Given the description of an element on the screen output the (x, y) to click on. 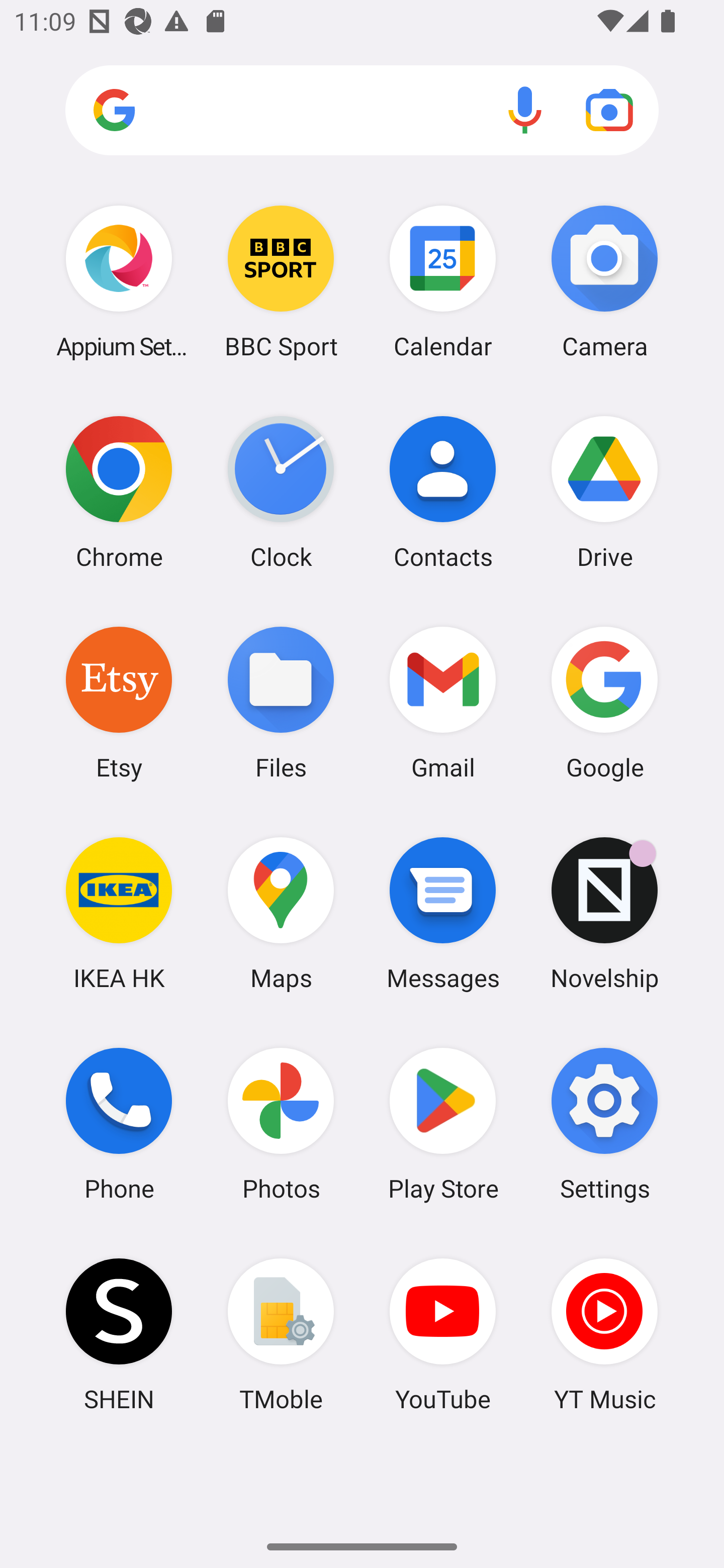
Search apps, web and more (361, 110)
Voice search (524, 109)
Google Lens (608, 109)
Appium Settings (118, 281)
BBC Sport (280, 281)
Calendar (443, 281)
Camera (604, 281)
Chrome (118, 492)
Clock (280, 492)
Contacts (443, 492)
Drive (604, 492)
Etsy (118, 702)
Files (280, 702)
Gmail (443, 702)
Google (604, 702)
IKEA HK (118, 913)
Maps (280, 913)
Messages (443, 913)
Novelship Novelship has 3 notifications (604, 913)
Phone (118, 1124)
Photos (280, 1124)
Play Store (443, 1124)
Settings (604, 1124)
SHEIN (118, 1334)
TMoble (280, 1334)
YouTube (443, 1334)
YT Music (604, 1334)
